Given the description of an element on the screen output the (x, y) to click on. 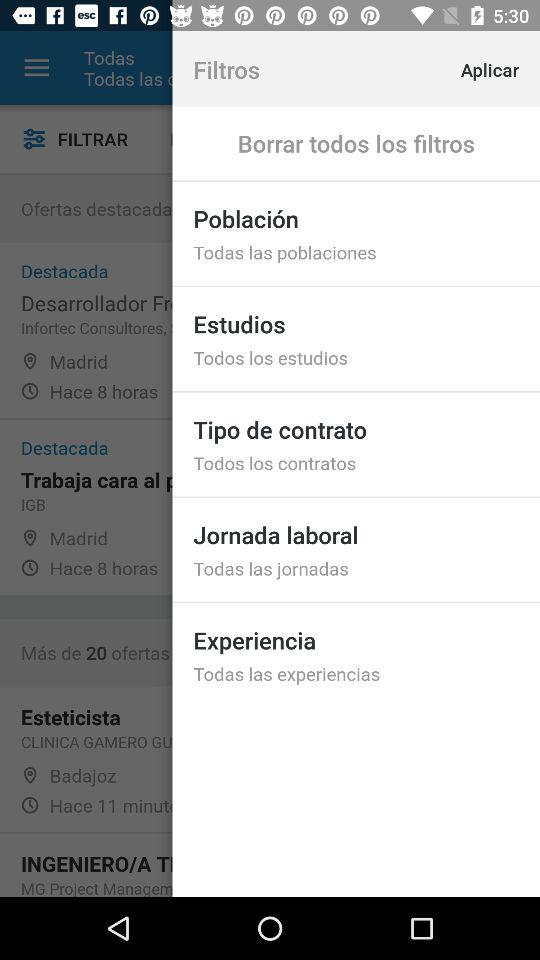
tap item to the left of the estudios item (220, 138)
